Given the description of an element on the screen output the (x, y) to click on. 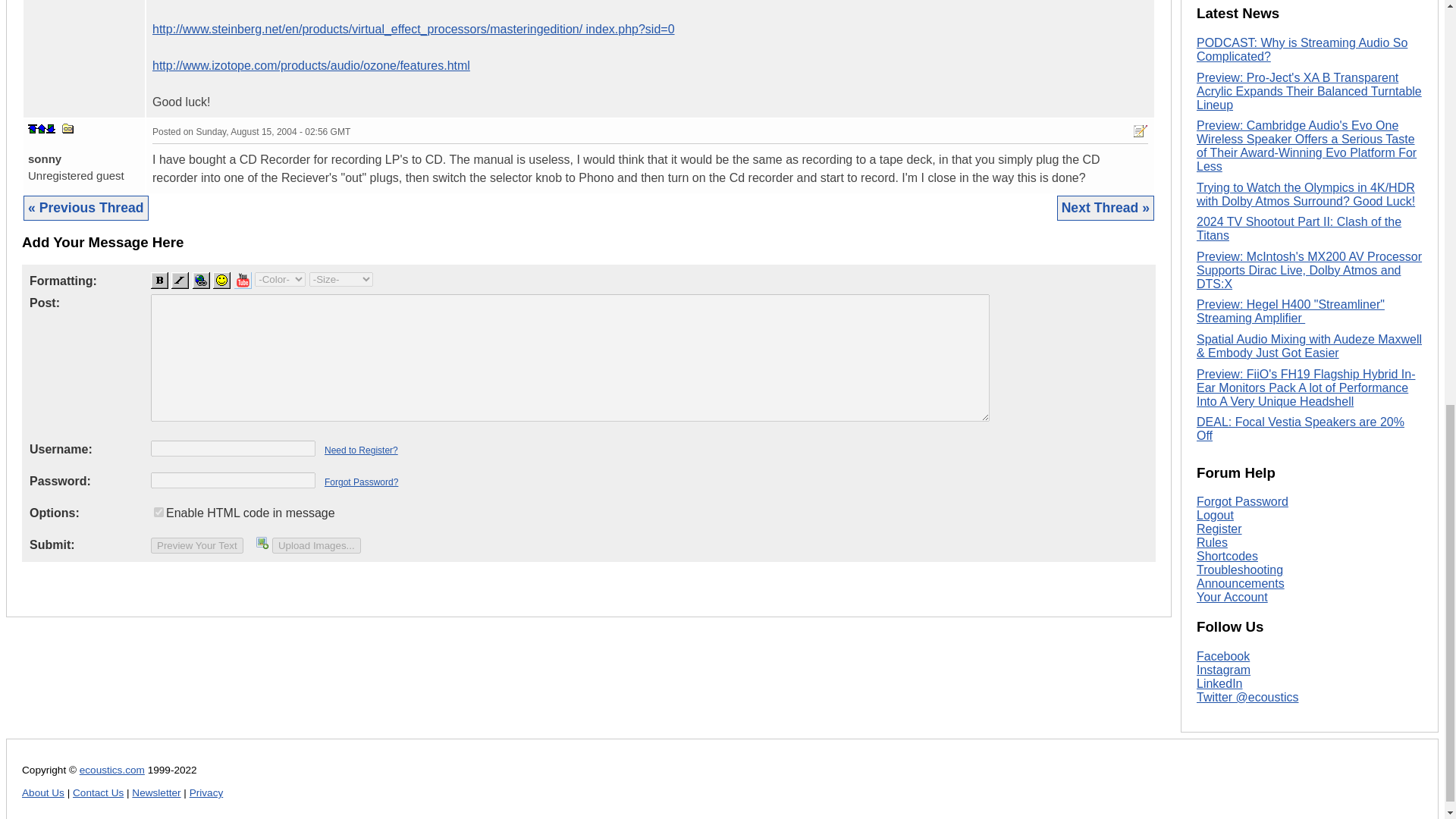
Preview Your Text (197, 545)
Upload Images... (316, 545)
1 (158, 511)
